Given the description of an element on the screen output the (x, y) to click on. 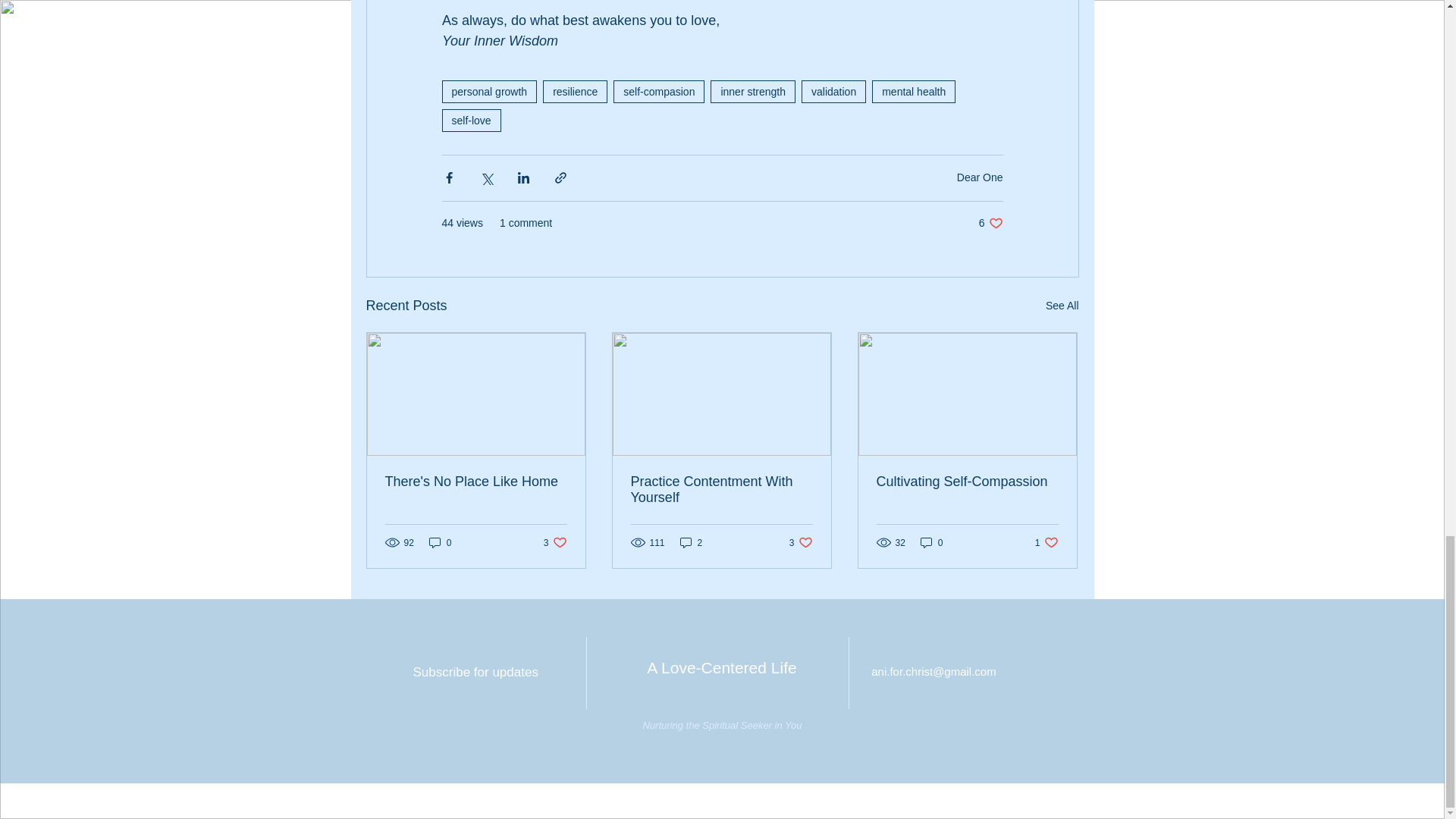
0 (440, 542)
mental health (913, 91)
self-love (990, 223)
Practice Contentment With Yourself (470, 119)
See All (555, 542)
2 (721, 490)
Cultivating Self-Compassion (1061, 305)
resilience (691, 542)
inner strength (967, 481)
validation (575, 91)
There's No Place Like Home (752, 91)
self-compasion (834, 91)
